Given the description of an element on the screen output the (x, y) to click on. 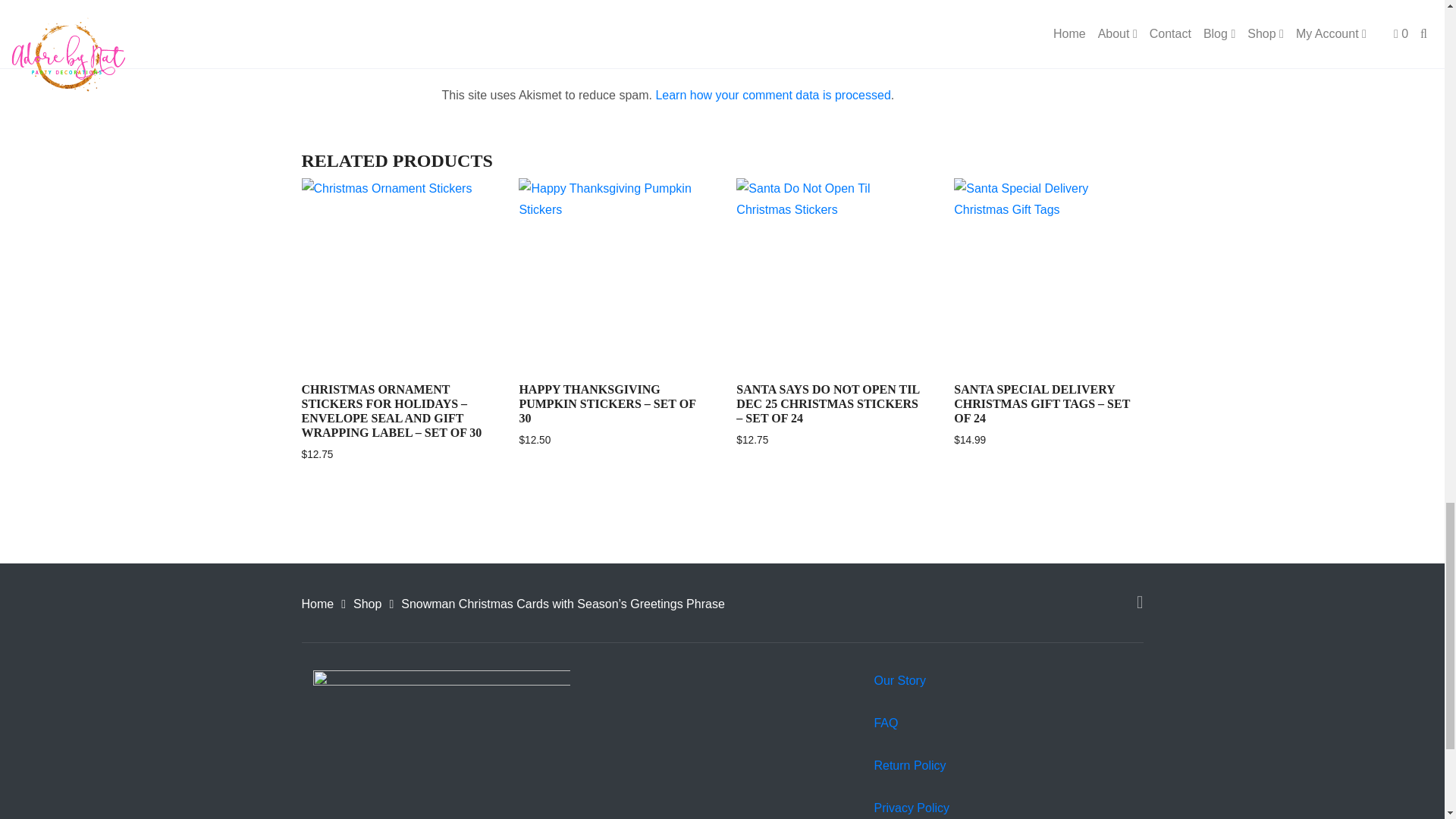
1 (446, 11)
Submit (489, 49)
